Given the description of an element on the screen output the (x, y) to click on. 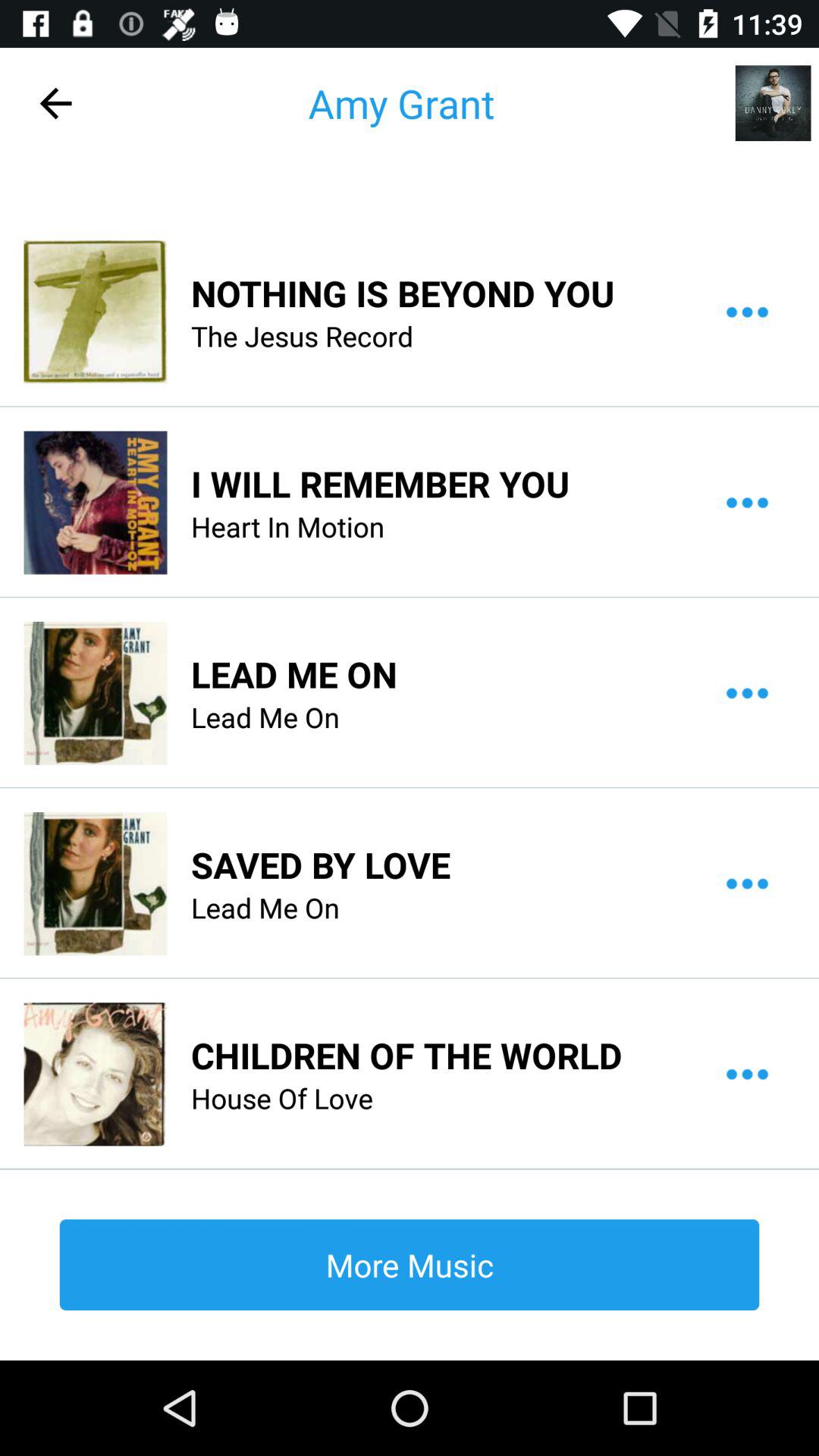
turn on the house of love (282, 1098)
